Given the description of an element on the screen output the (x, y) to click on. 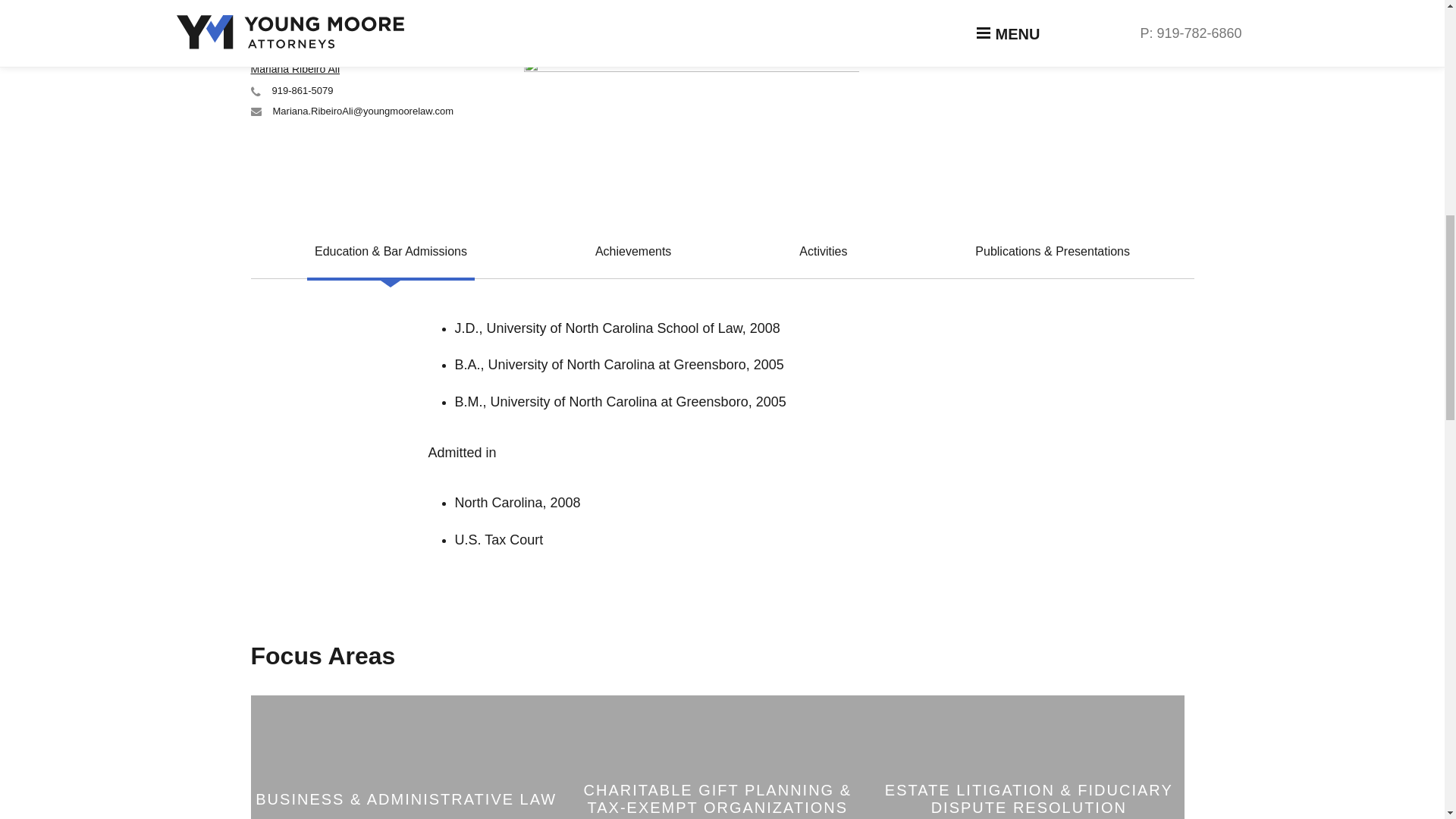
Phone (255, 91)
Mariana Ribeiro Ali (294, 69)
Email (255, 111)
Activities (823, 254)
Achievements (633, 254)
Email (255, 2)
